Given the description of an element on the screen output the (x, y) to click on. 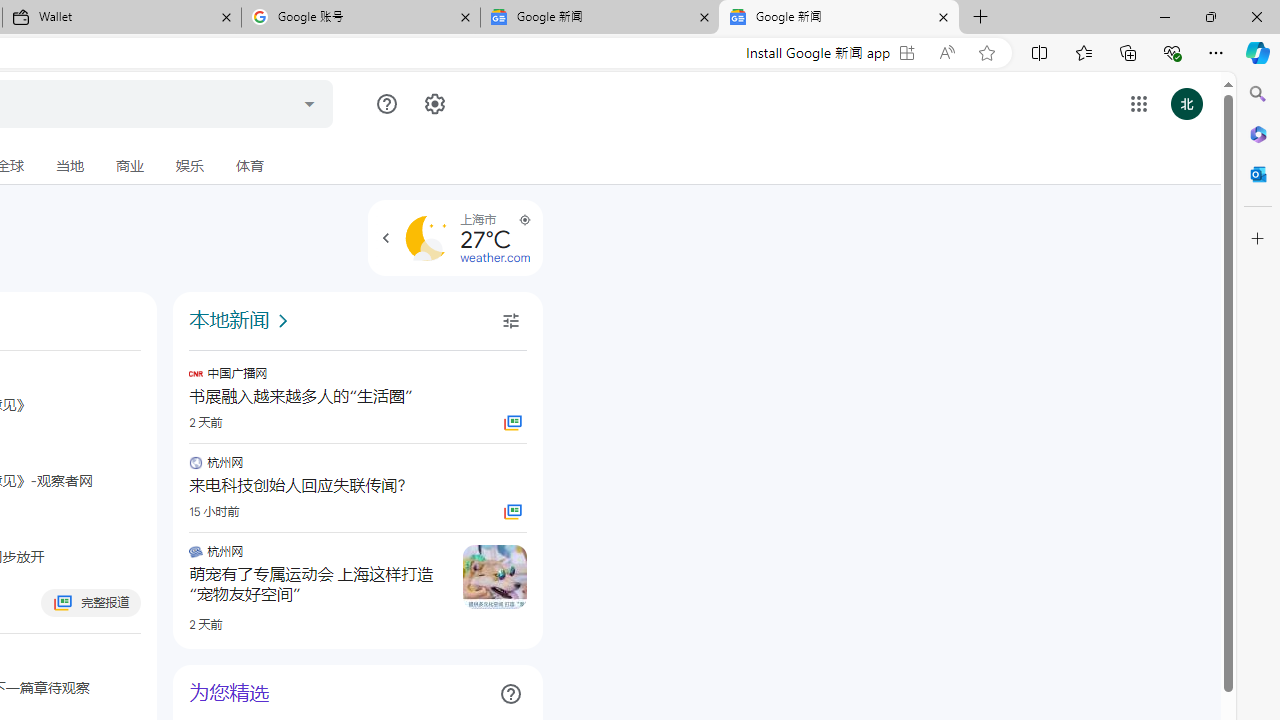
AutomationID: i40 (283, 321)
Class: isawzf NMm5M (510, 321)
Class:  NMm5M hhikbc (386, 237)
